Given the description of an element on the screen output the (x, y) to click on. 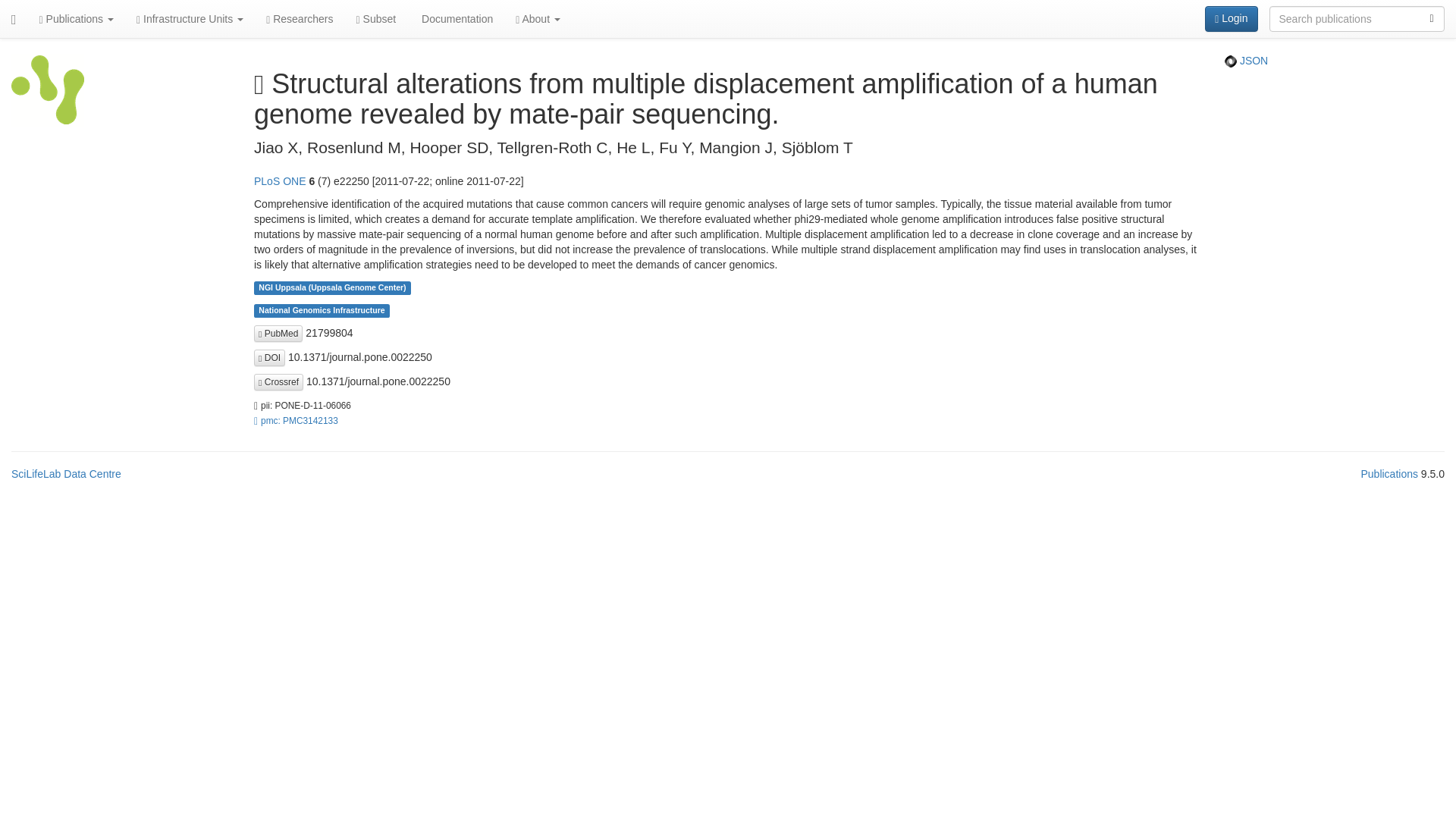
PubMed (277, 333)
Login (1231, 18)
SciLifeLab Infrastructure Units Publications (47, 94)
Crossref (277, 381)
Publications (76, 18)
PLoS ONE (279, 181)
Documentation (455, 18)
Researchers (298, 18)
pmc: PMC3142133 (295, 419)
Infrastructure Units (189, 18)
About (537, 18)
DOI (269, 357)
JSON (1246, 60)
National Genomics Infrastructure (321, 309)
Subset (376, 18)
